Given the description of an element on the screen output the (x, y) to click on. 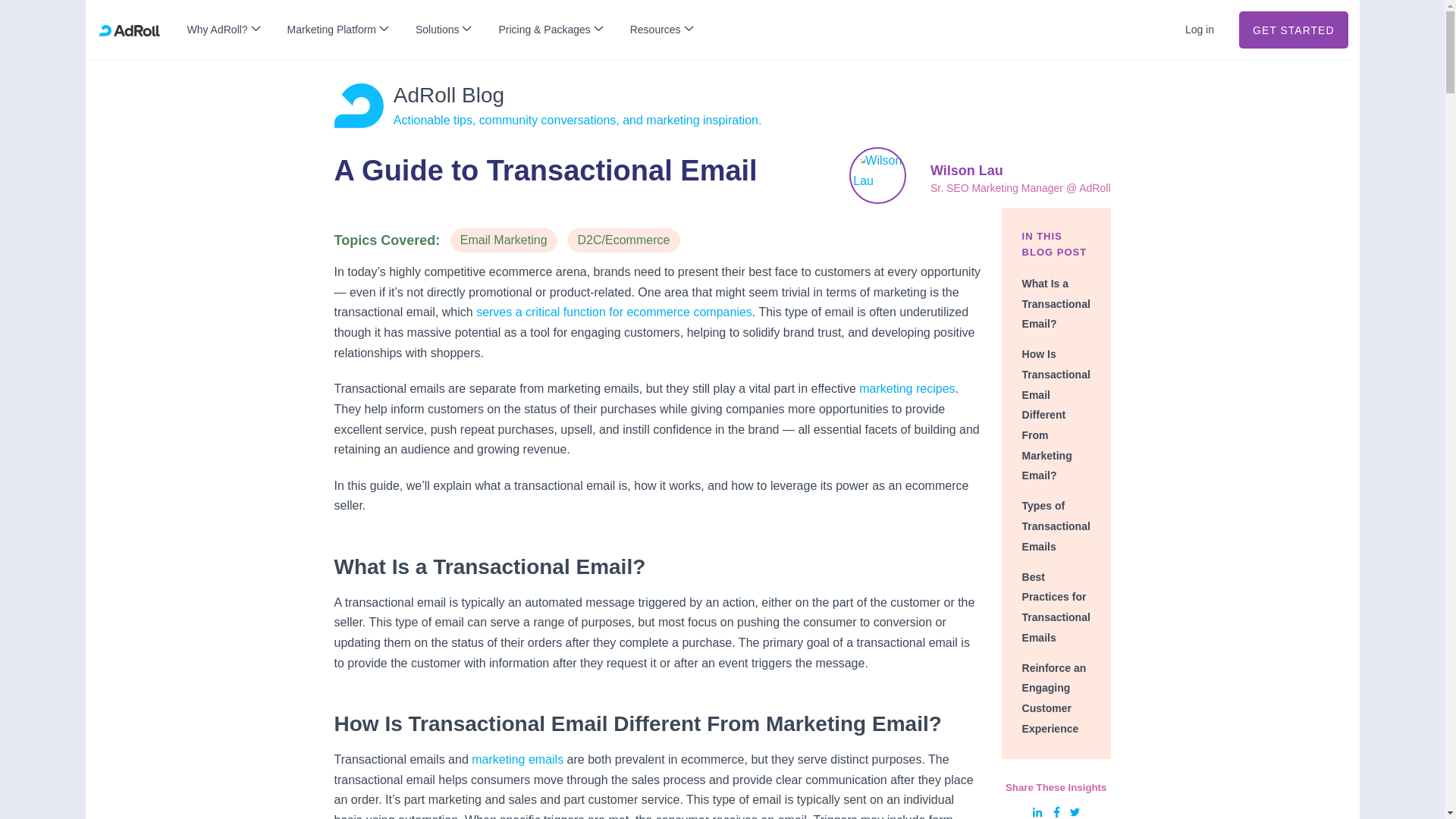
Resources (660, 29)
Types of Transactional Emails (1056, 525)
What Is a Transactional Email? (1056, 303)
Marketing Platform (337, 29)
Best Practices for Transactional Emails (1056, 606)
Why AdRoll? (223, 29)
Solutions (442, 29)
